Given the description of an element on the screen output the (x, y) to click on. 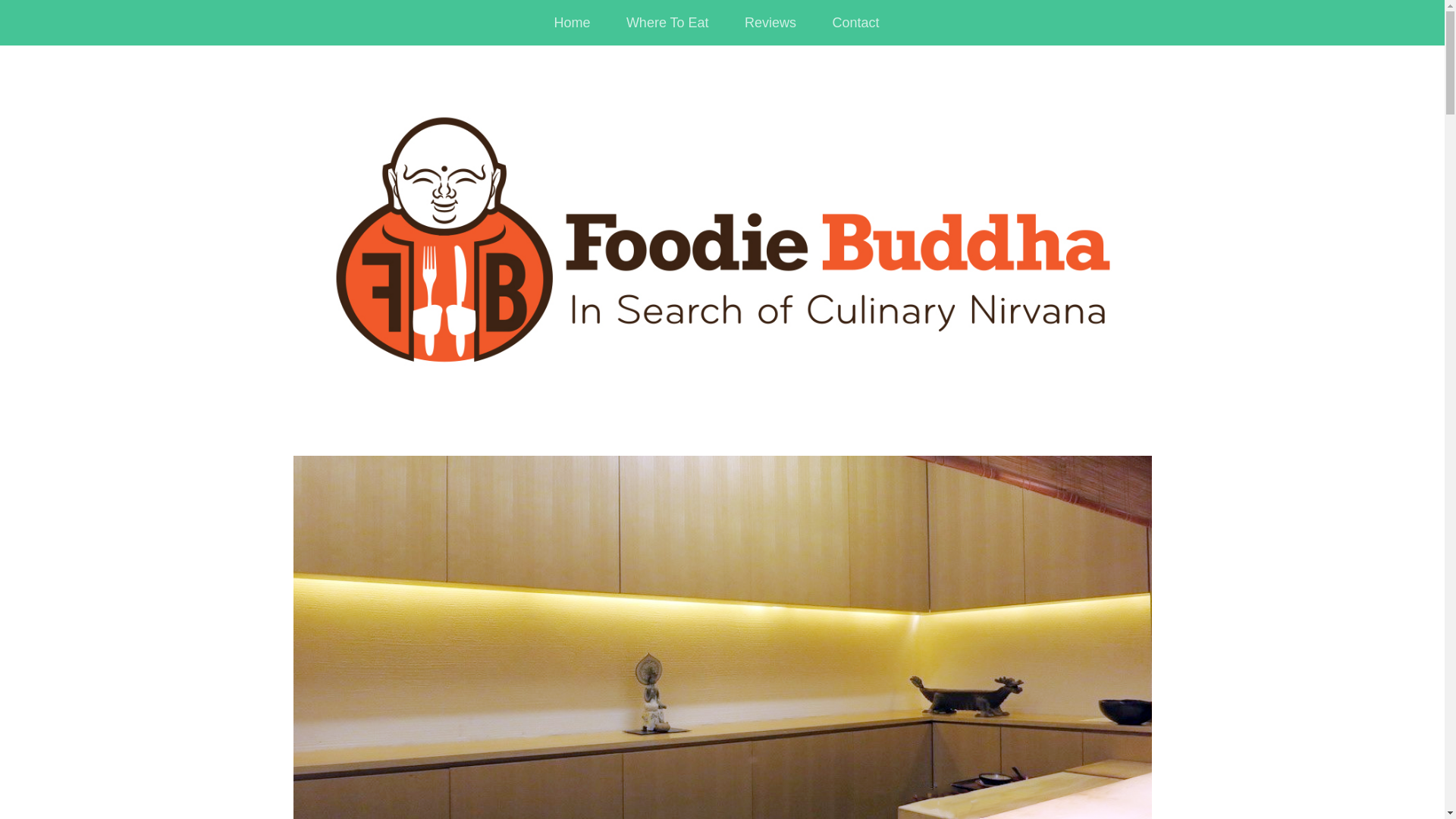
Where To Eat (667, 22)
Contact (855, 22)
Home (571, 22)
Reviews (769, 22)
